Given the description of an element on the screen output the (x, y) to click on. 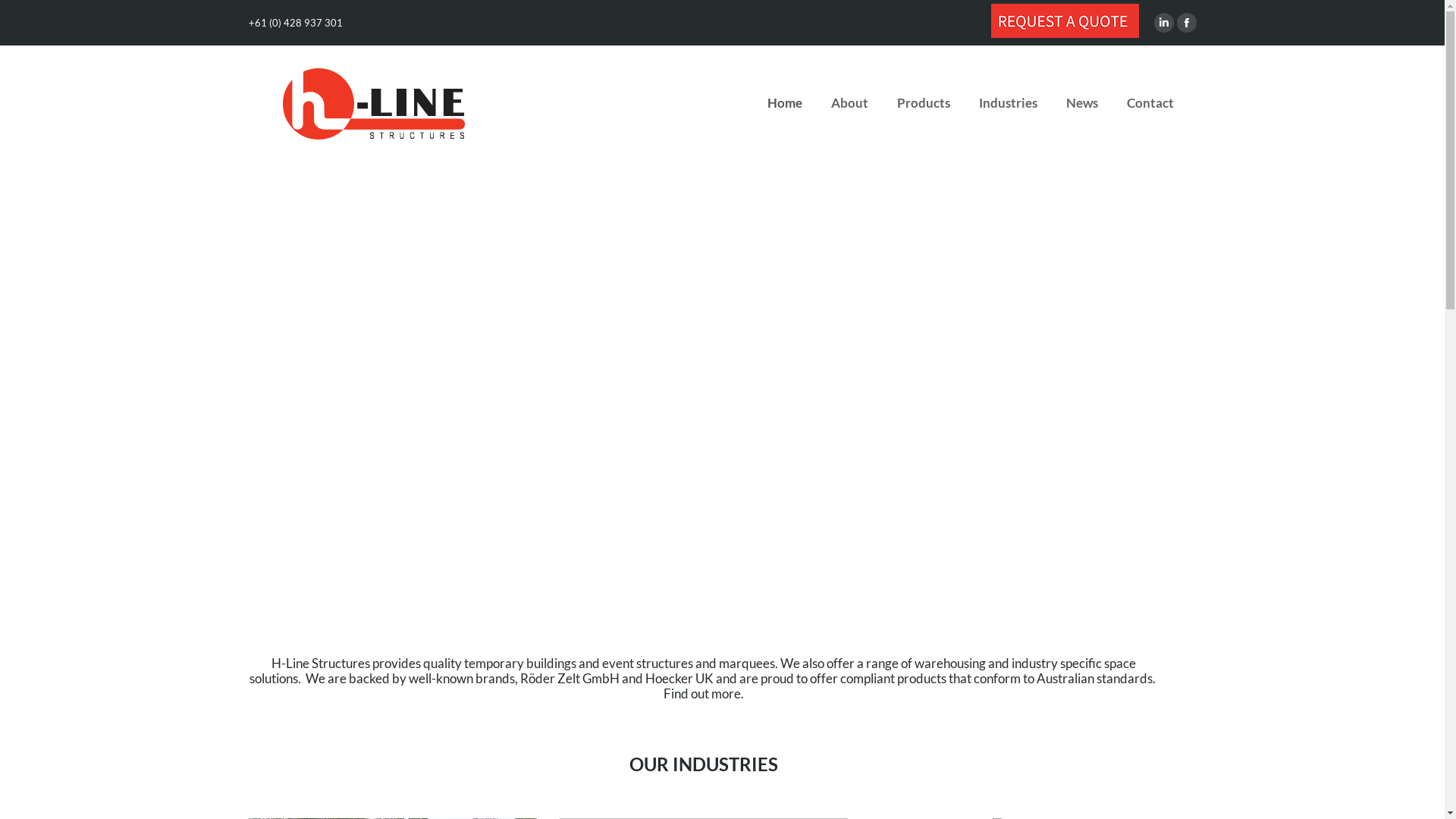
Contact Element type: text (1149, 102)
Find out more Element type: text (701, 693)
About Element type: text (849, 102)
News Element type: text (1082, 102)
Facebook page opens in new window Element type: text (1186, 22)
Products Element type: text (922, 102)
Home Element type: text (784, 102)
Linkedin page opens in new window Element type: text (1163, 22)
Industries Element type: text (1007, 102)
